Given the description of an element on the screen output the (x, y) to click on. 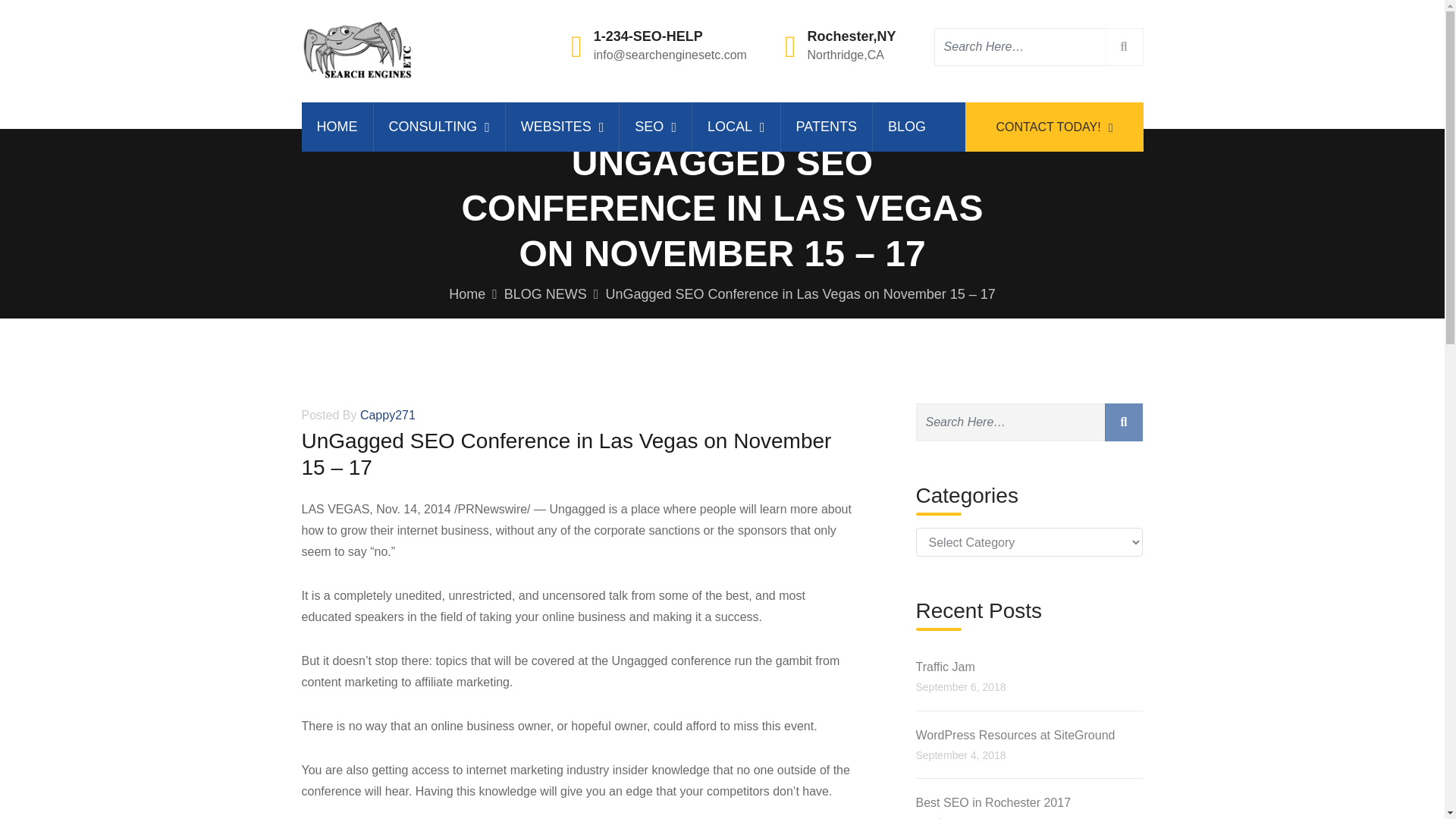
CONSULTING (437, 127)
Internet Marketing Services (437, 127)
HOME (336, 126)
Search Engines Etc. (336, 126)
Search Engines Etc. Blog (906, 126)
